Given the description of an element on the screen output the (x, y) to click on. 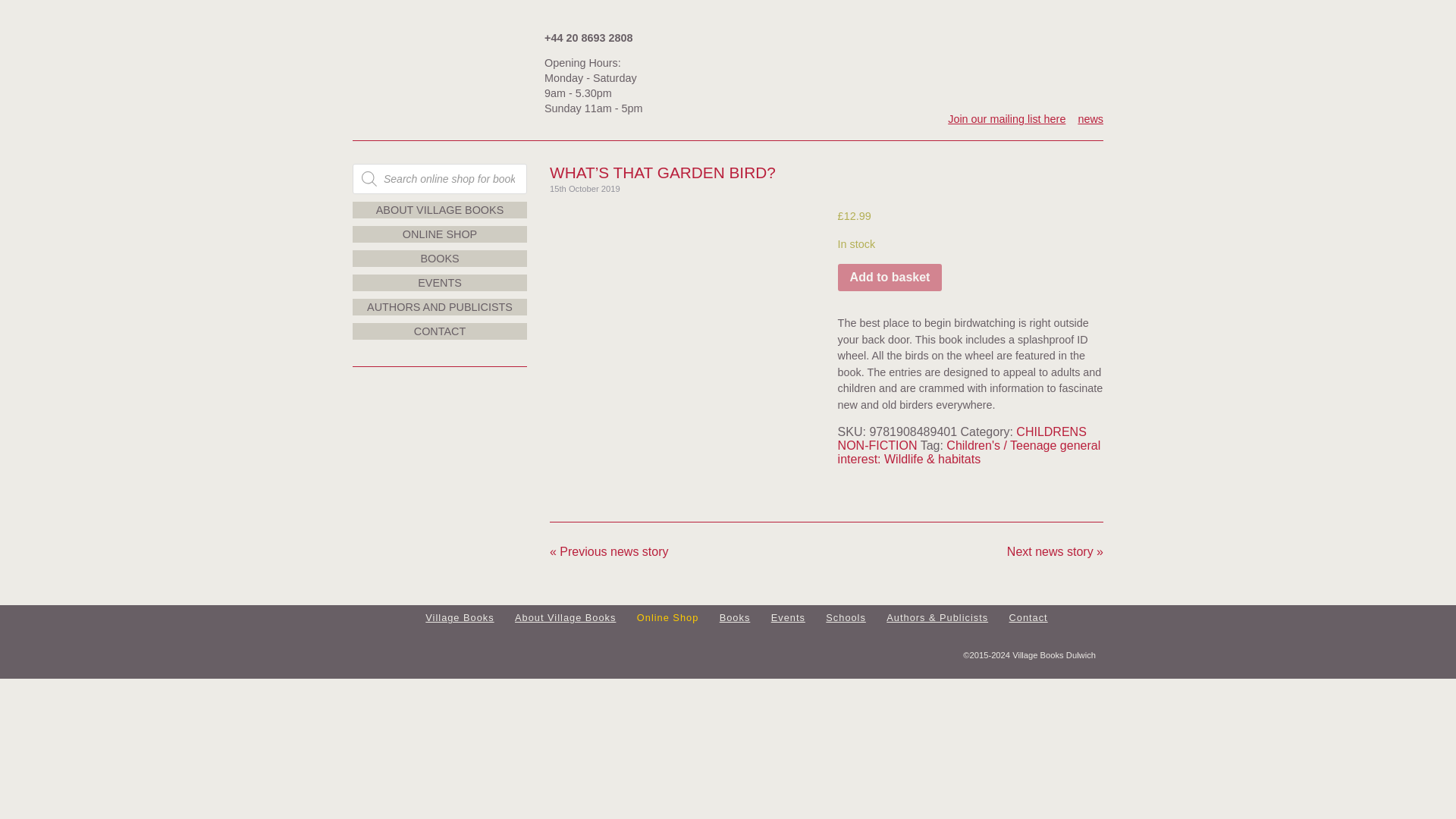
Follow us on twitter (1085, 54)
Village Books (459, 617)
CONTACT (439, 330)
Add to basket (890, 277)
Online Shop (667, 617)
CHILDRENS NON-FICTION (962, 438)
Follow us on twitter (1085, 54)
About Village Books (565, 617)
AUTHORS AND PUBLICISTS (439, 306)
EVENTS (439, 282)
